Given the description of an element on the screen output the (x, y) to click on. 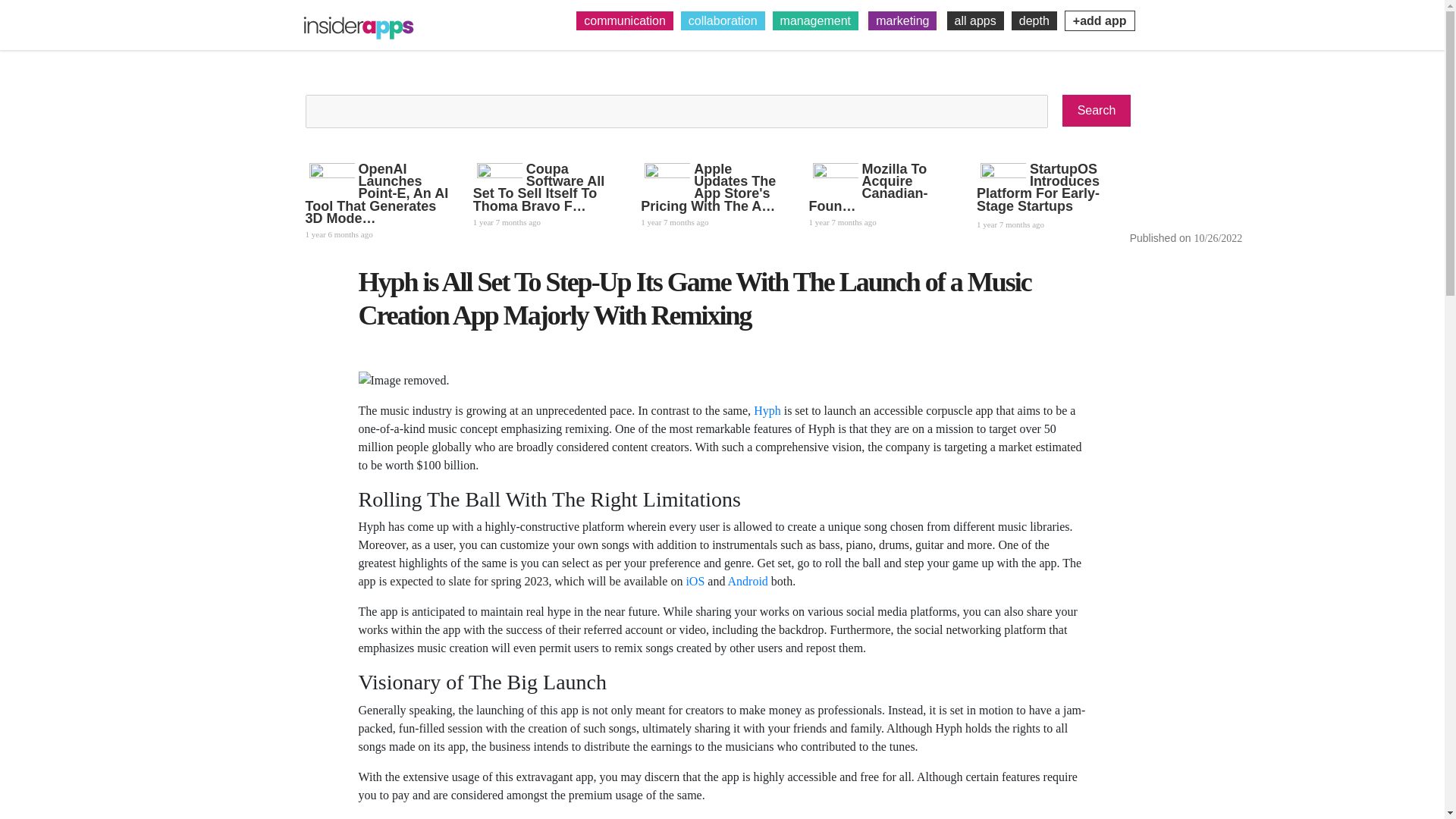
Search (1096, 110)
marketing (901, 20)
collaboration (723, 20)
all apps (975, 20)
1 year 7 months ago (881, 220)
1 year 7 months ago (545, 220)
depth (1034, 20)
management (816, 20)
1 year 7 months ago (713, 220)
communication (624, 20)
1 year 6 months ago (376, 232)
Search (1096, 110)
